Given the description of an element on the screen output the (x, y) to click on. 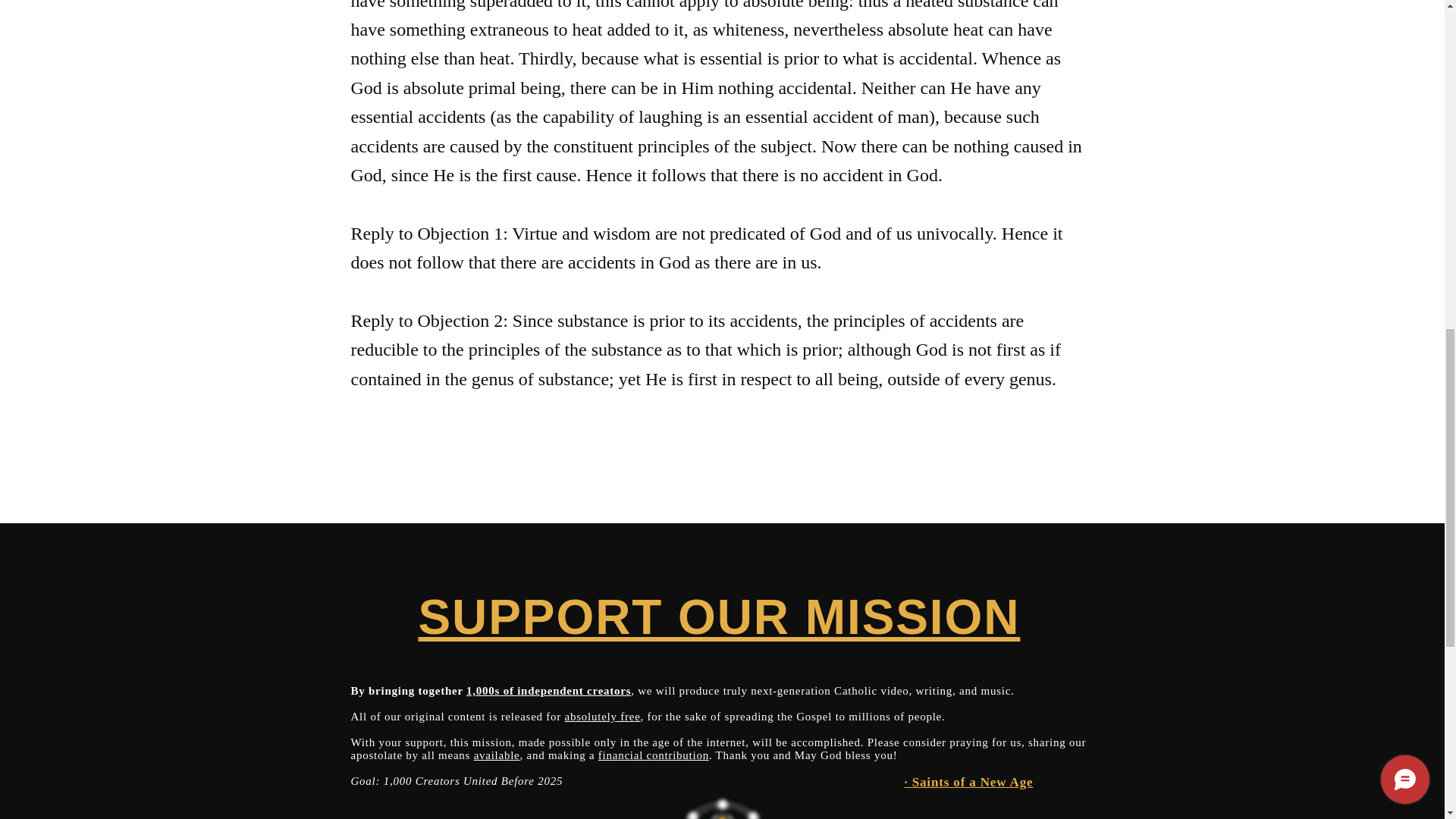
sacredheartlogo.png (721, 804)
absolutely free (602, 716)
1,000s of independent creators (547, 690)
SUPPORT OUR MISSION (719, 616)
available (496, 755)
financial contribution (653, 755)
